Given the description of an element on the screen output the (x, y) to click on. 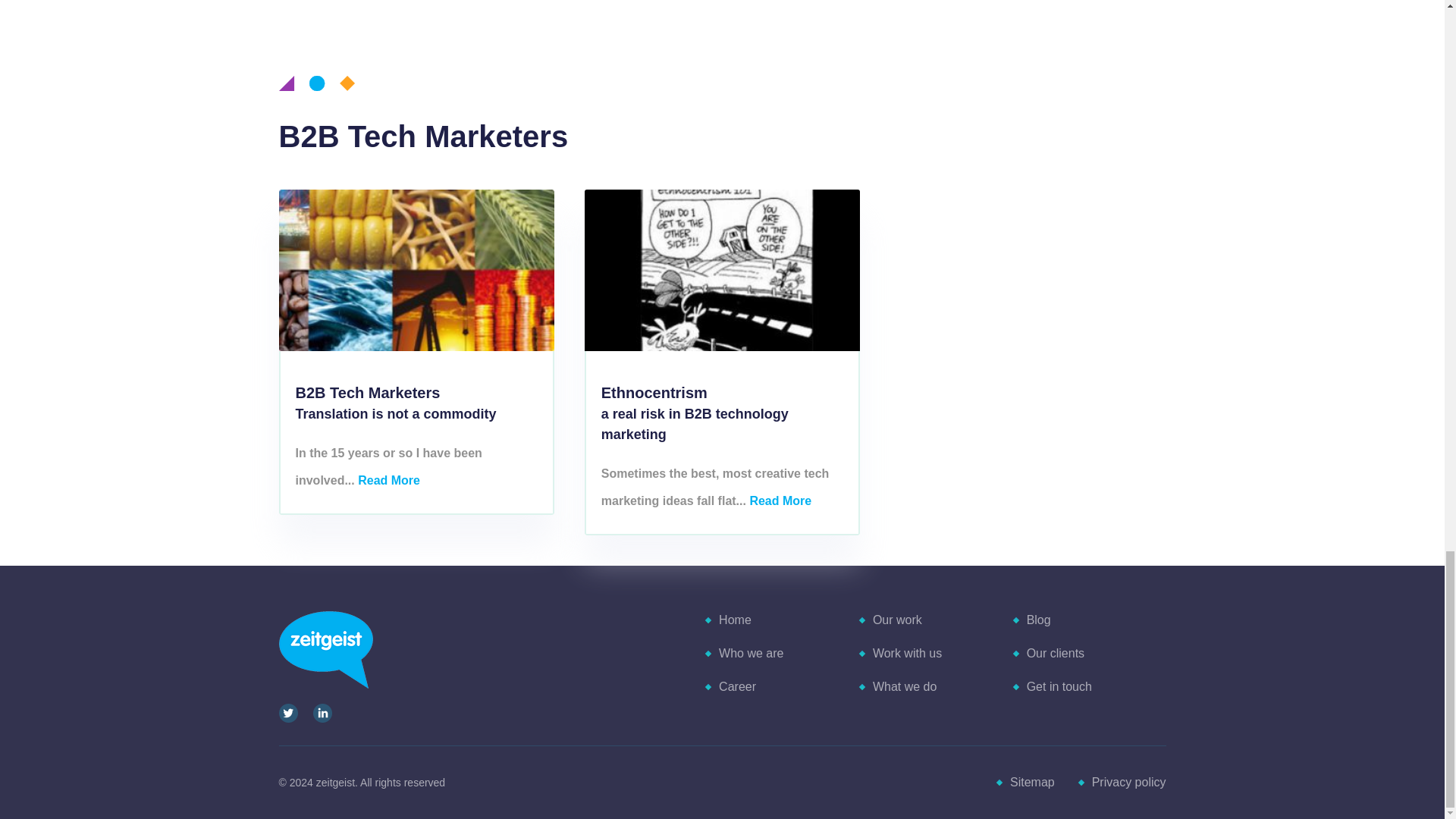
Privacy policy (1128, 781)
Get in touch (1058, 686)
Sitemap (1031, 781)
What we do (903, 686)
Who we are (750, 653)
Linked In (322, 712)
Read More (779, 500)
Read More (389, 480)
Our clients (1054, 653)
Home (734, 619)
Career (736, 686)
Our work (895, 619)
Blog (1038, 619)
Work with us (906, 653)
Twitter (288, 712)
